Given the description of an element on the screen output the (x, y) to click on. 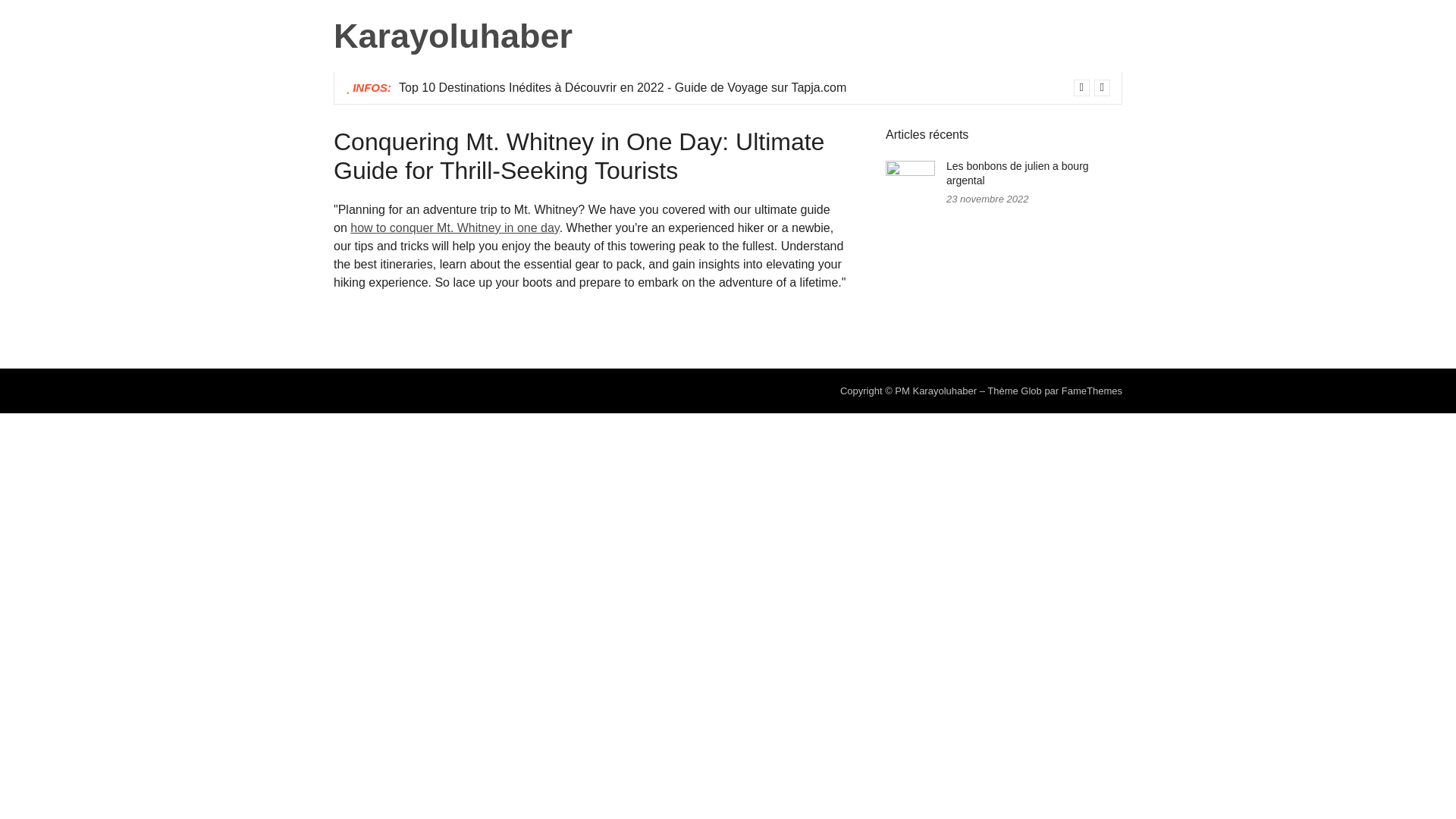
Les bonbons de julien a bourg argental (1017, 172)
FameThemes (1091, 390)
Karayoluhaber (452, 35)
Les bonbons de julien a bourg argental (1017, 172)
how to conquer Mt. Whitney in one day (454, 227)
